Given the description of an element on the screen output the (x, y) to click on. 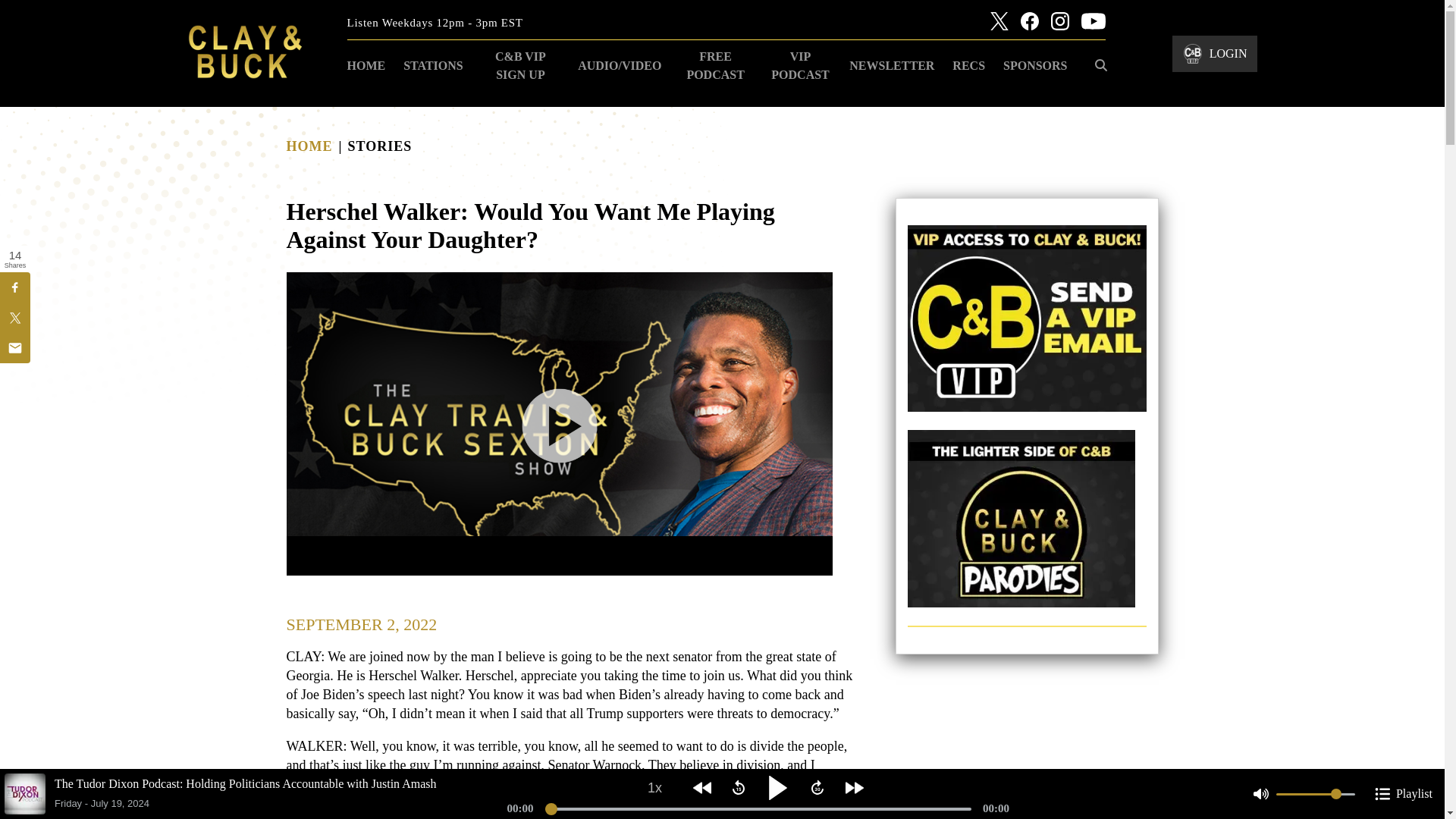
FREE PODCAST (714, 65)
STATIONS (432, 65)
NEWSLETTER (891, 65)
STORIES (379, 145)
HOME (365, 65)
HOME (309, 145)
SPONSORS (1034, 65)
VIP PODCAST (800, 65)
LOGIN (1214, 53)
RECS (968, 65)
80 (1315, 794)
